Given the description of an element on the screen output the (x, y) to click on. 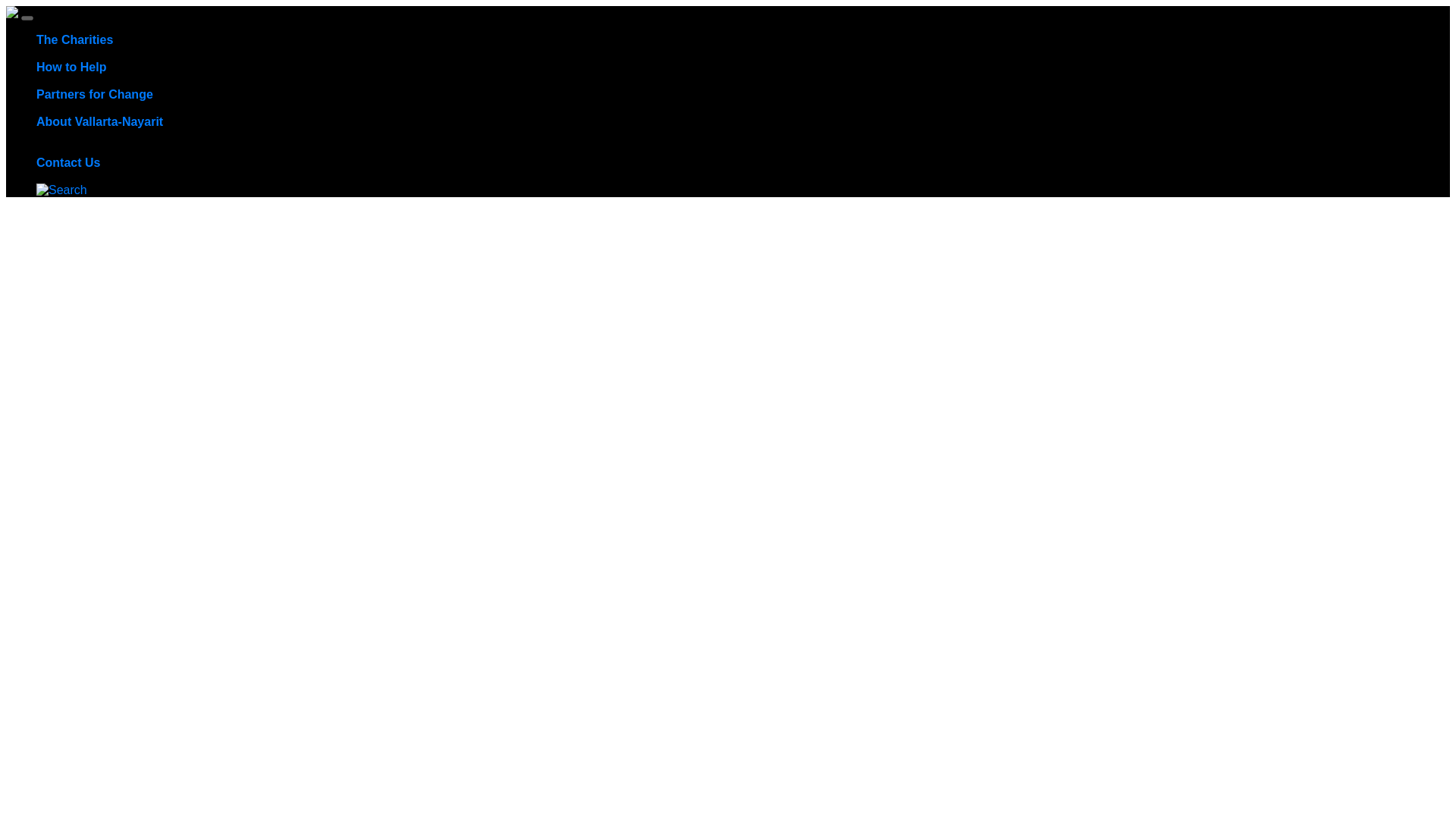
Partners for Change (94, 93)
Use Your Powers for Good (107, 80)
Add Your Favorite Charity (251, 80)
Important Phone Numbers (836, 134)
Local Consular Agencies (103, 148)
Community Services (92, 52)
Education (510, 52)
Health Care (363, 52)
Local Area Maps (716, 134)
About PVAngels (79, 175)
